Given the description of an element on the screen output the (x, y) to click on. 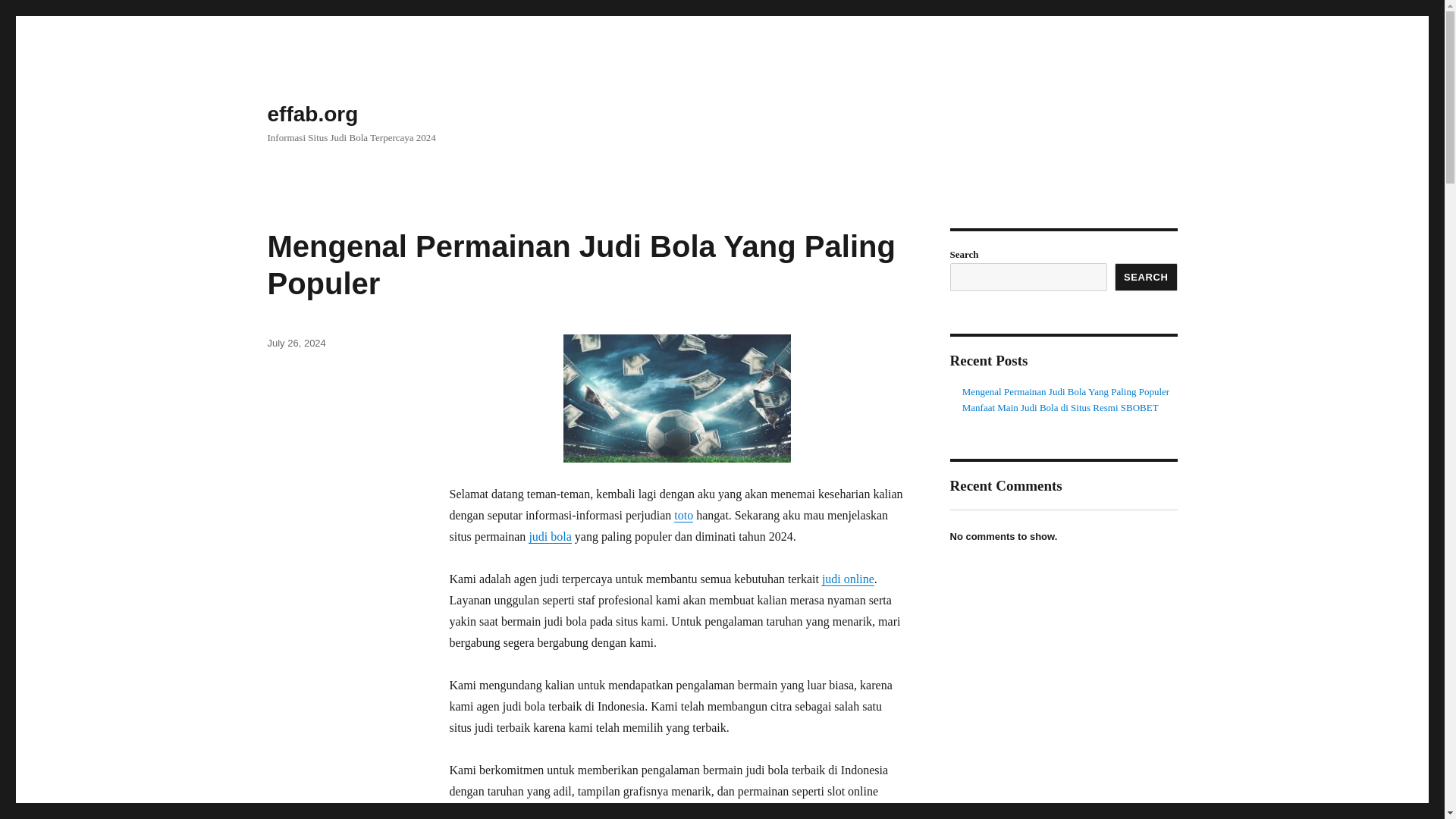
Mengenal Permainan Judi Bola Yang Paling Populer (1065, 391)
toto (683, 514)
July 26, 2024 (295, 342)
SEARCH (1146, 276)
judi online (848, 578)
Mengenal Permainan Judi Bola Yang Paling Populer (580, 265)
judi bola (549, 535)
effab.org (312, 114)
Manfaat Main Judi Bola di Situs Resmi SBOBET (1060, 407)
